Given the description of an element on the screen output the (x, y) to click on. 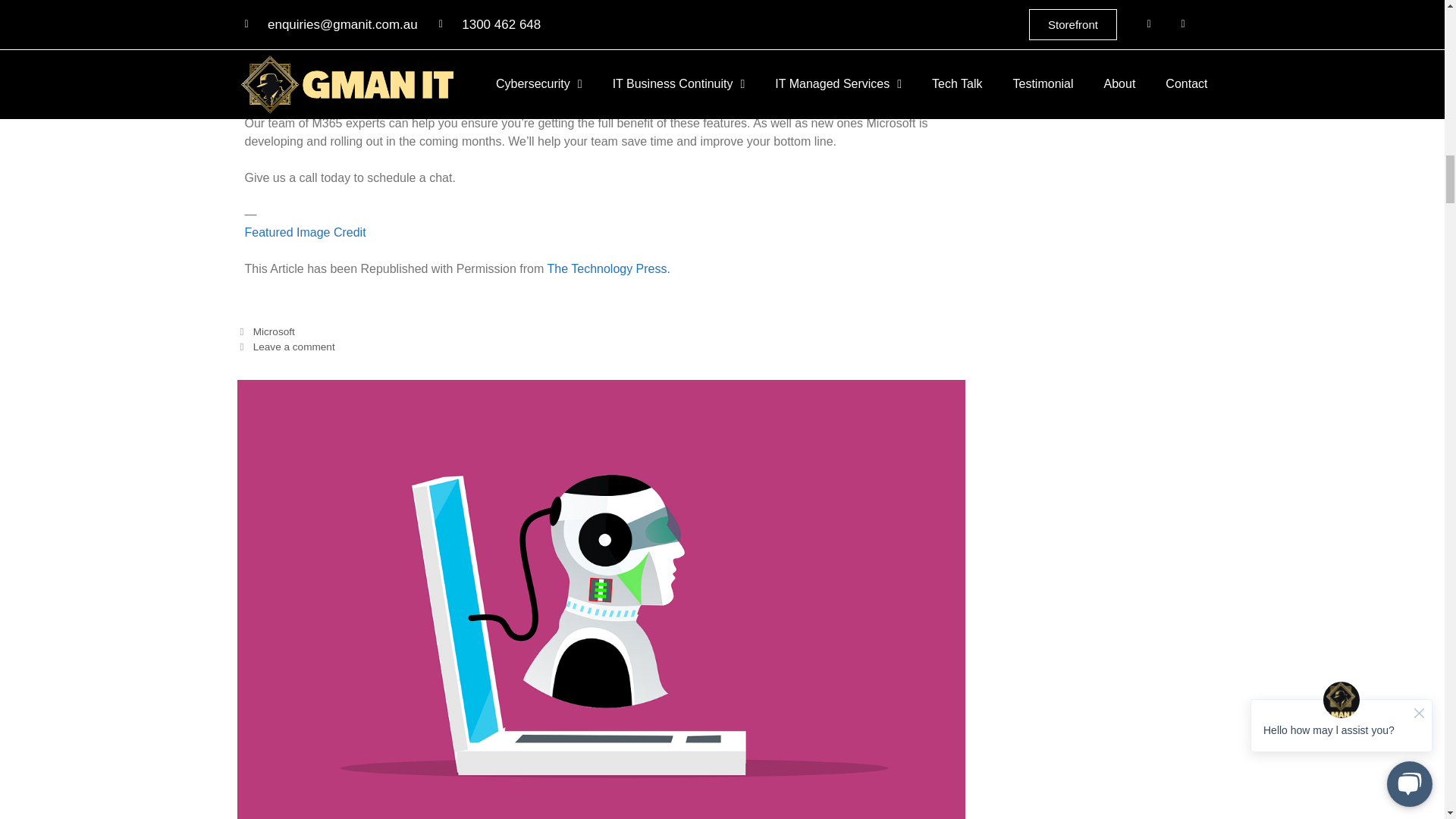
5 Ways to Leverage Microsoft 365's New AI Innovations (608, 268)
